Given the description of an element on the screen output the (x, y) to click on. 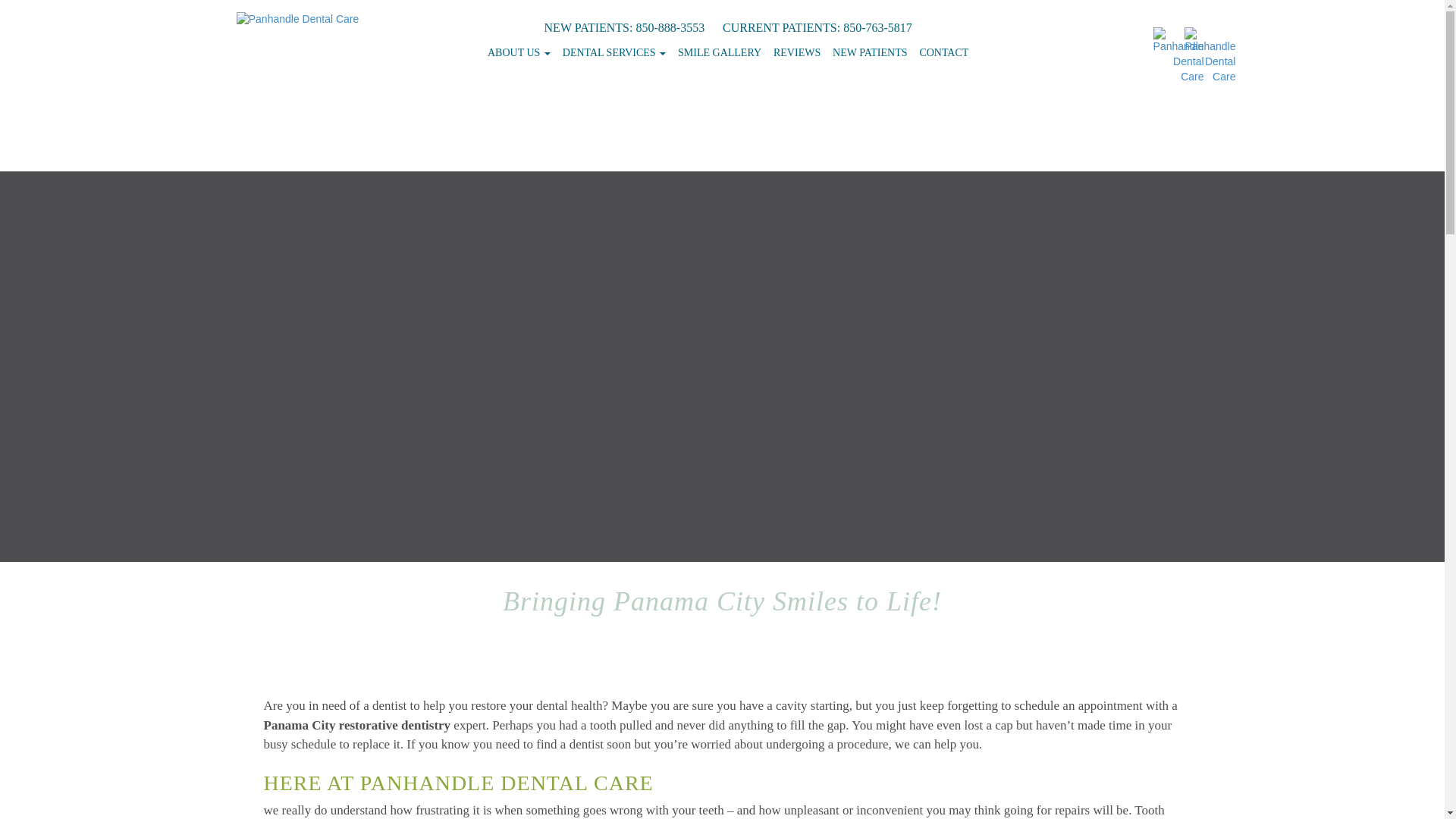
850-888-3553 (669, 27)
NEW PATIENTS (869, 52)
850-763-5817 (877, 27)
SMILE GALLERY (718, 52)
Panhandle Dental Care (297, 19)
REVIEWS (796, 52)
DENTAL SERVICES (613, 52)
CONTACT (943, 52)
ABOUT US (518, 52)
